Given the description of an element on the screen output the (x, y) to click on. 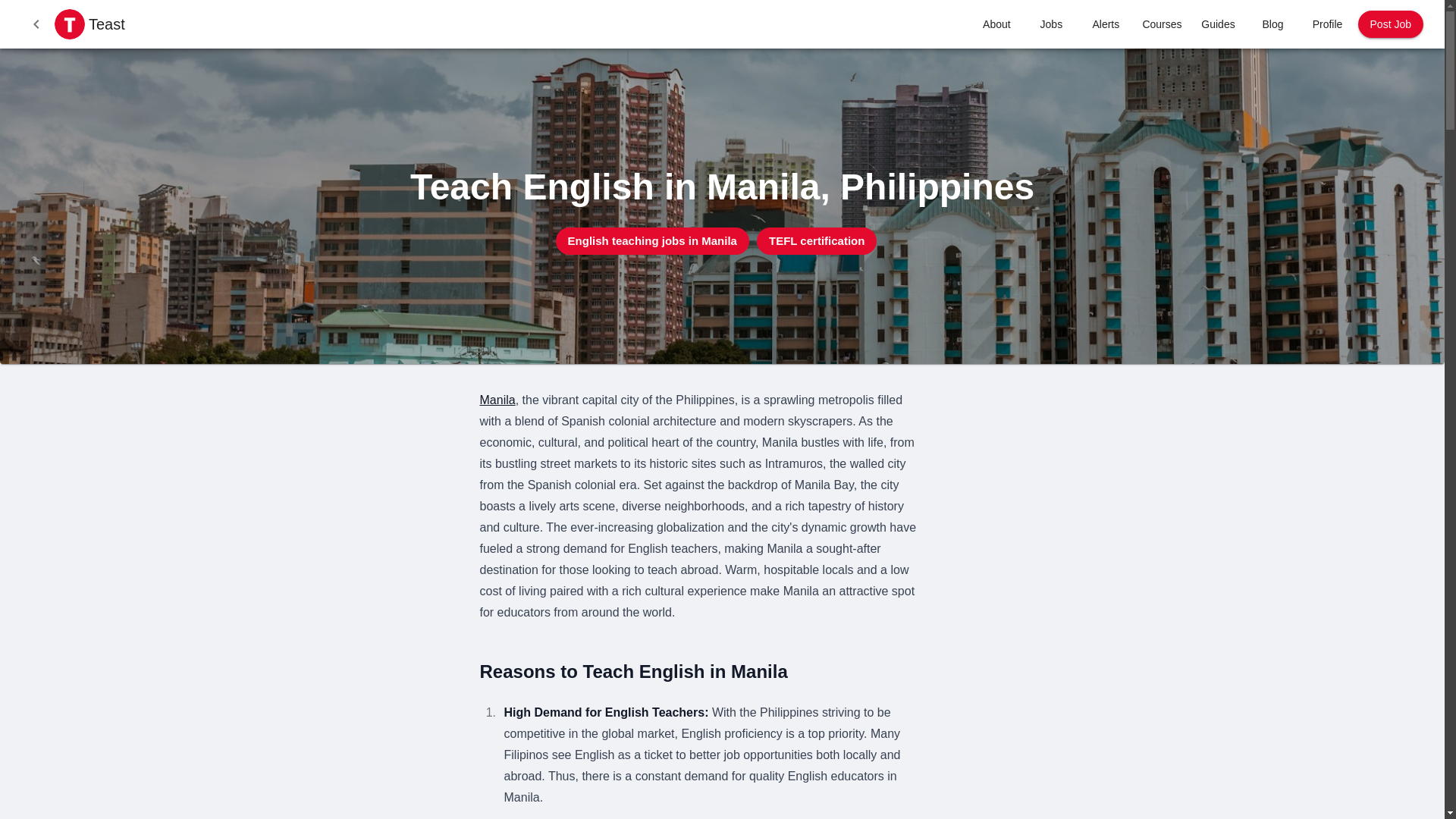
Profile (1327, 24)
TEFL certification (816, 240)
Guides (1218, 24)
Jobs (1050, 24)
About (996, 24)
Post Job (1390, 24)
Alerts (1105, 24)
Blog (1273, 24)
English teaching jobs in Manila (652, 240)
Manila (497, 399)
